Given the description of an element on the screen output the (x, y) to click on. 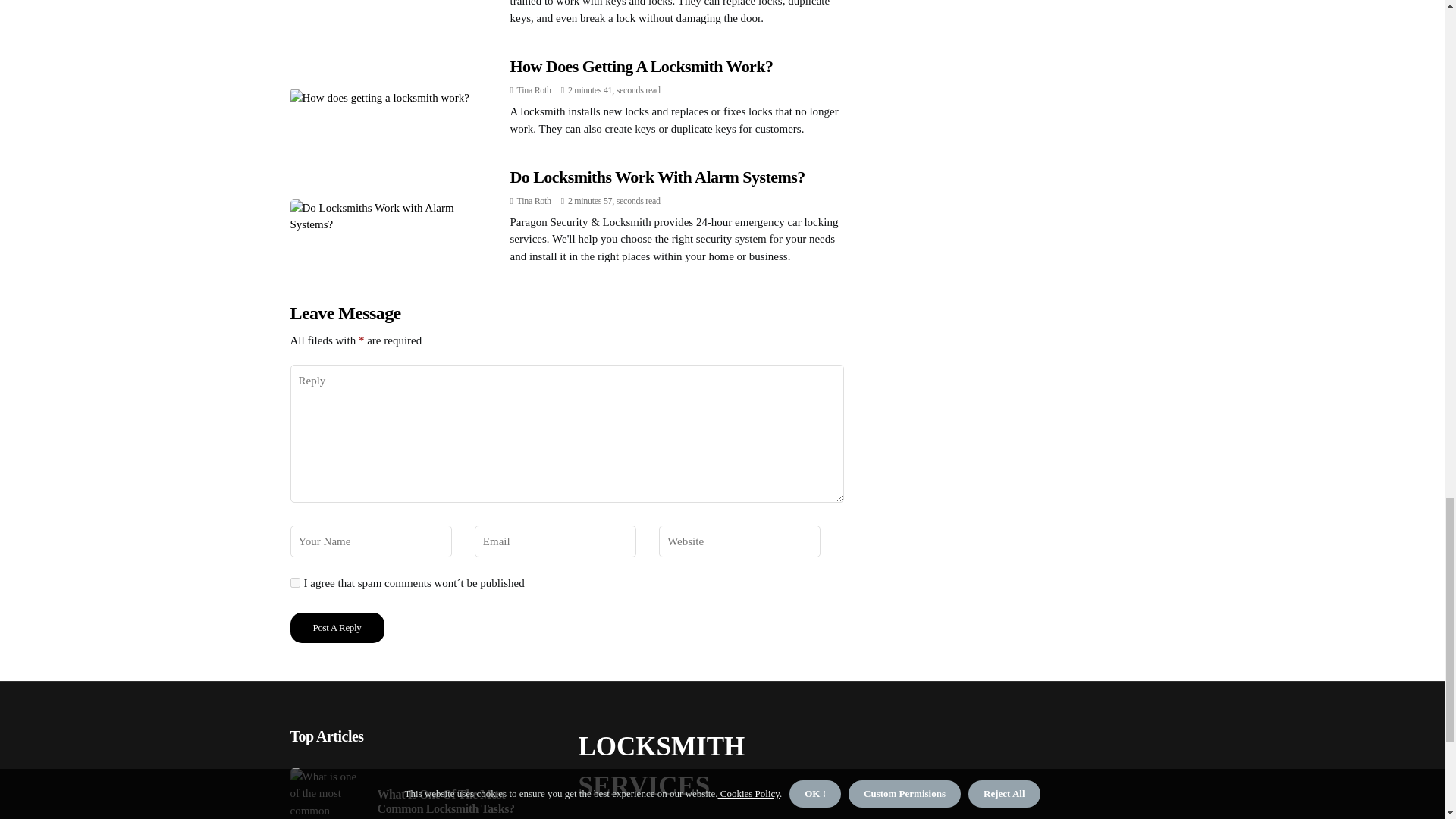
Do Locksmiths Work With Alarm Systems? (657, 176)
Post a Reply (336, 627)
Tina Roth (533, 90)
How Does Getting A Locksmith Work? (641, 66)
Posts by Tina Roth (533, 200)
yes (294, 583)
Posts by Tina Roth (533, 90)
Post a Reply (336, 627)
Tina Roth (533, 200)
